Given the description of an element on the screen output the (x, y) to click on. 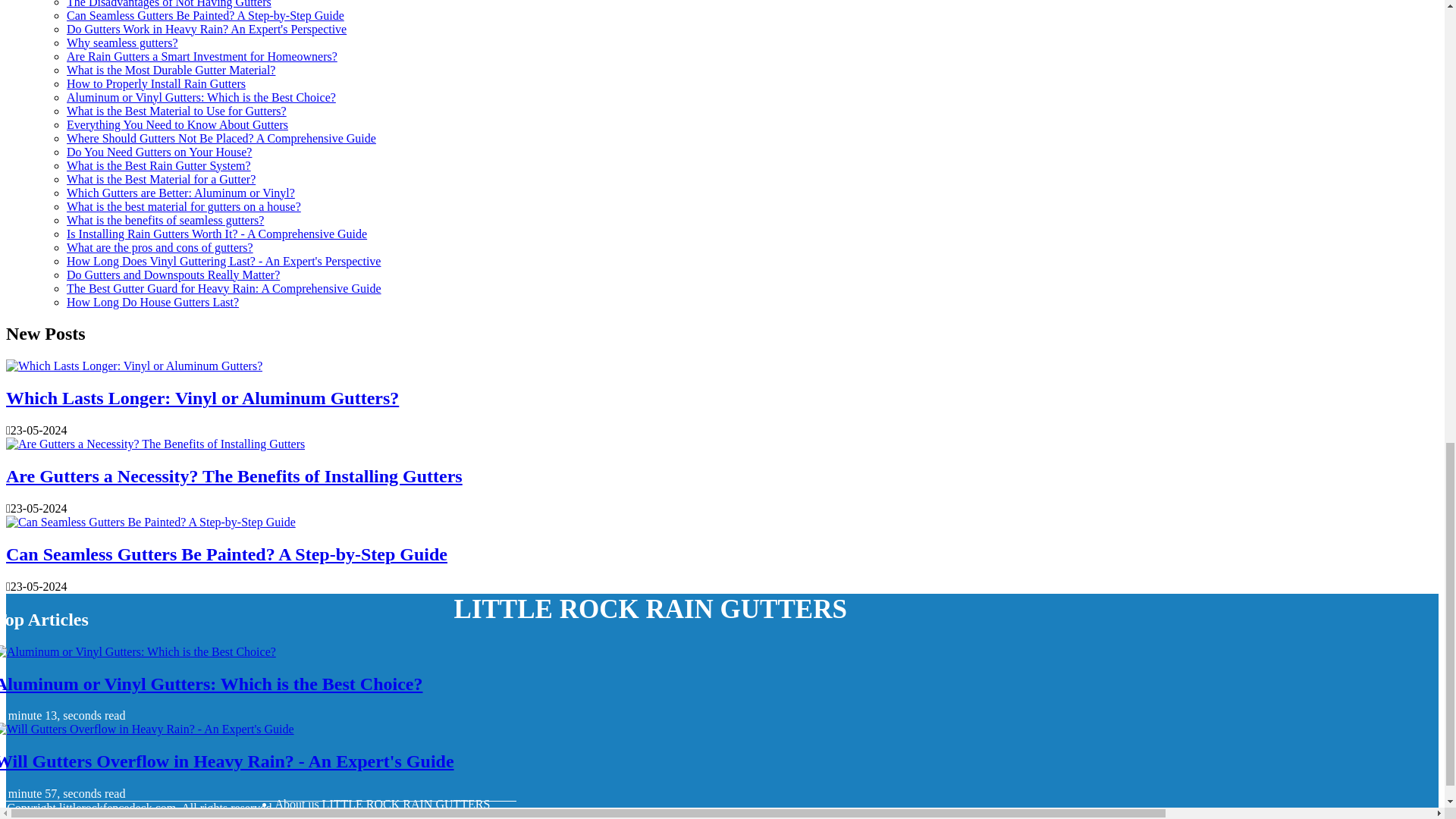
How to Properly Install Rain Gutters (156, 83)
Do Gutters Work in Heavy Rain? An Expert's Perspective (206, 29)
The Disadvantages of Not Having Gutters (168, 4)
Why seamless gutters? (121, 42)
What is the Best Material to Use for Gutters? (176, 110)
Everything You Need to Know About Gutters (177, 124)
What is the Most Durable Gutter Material? (170, 69)
Are Rain Gutters a Smart Investment for Homeowners? (201, 56)
Aluminum or Vinyl Gutters: Which is the Best Choice? (201, 97)
Can Seamless Gutters Be Painted? A Step-by-Step Guide (204, 15)
